Given the description of an element on the screen output the (x, y) to click on. 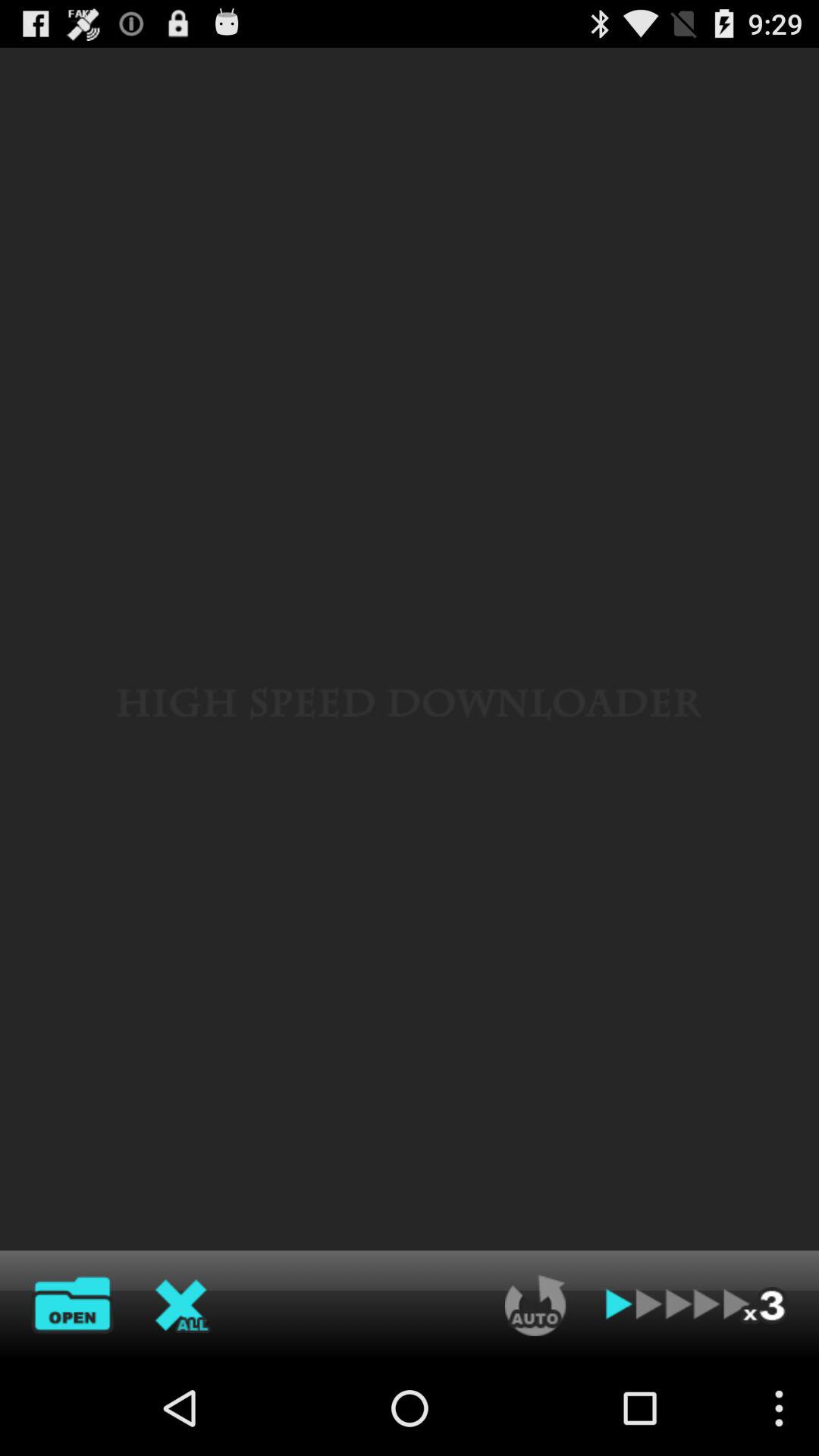
forward (696, 1305)
